Given the description of an element on the screen output the (x, y) to click on. 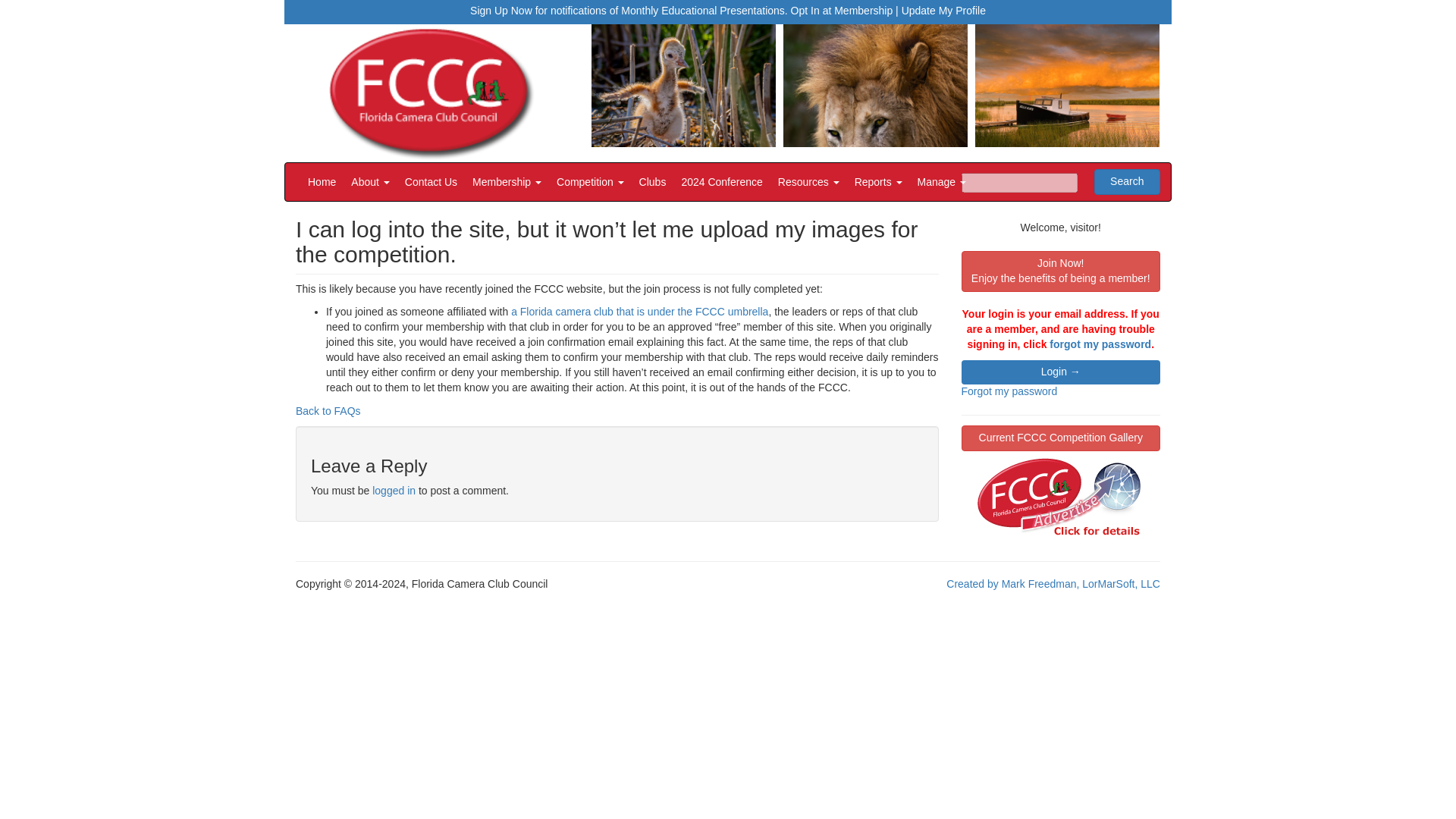
Membership (506, 181)
Competition (589, 181)
About (369, 181)
Clubs (652, 181)
Home (321, 181)
Search (1127, 181)
Resources (808, 181)
Reports (878, 181)
2024 Conference (721, 181)
Contact Us (430, 181)
Home (321, 181)
About (369, 181)
